Given the description of an element on the screen output the (x, y) to click on. 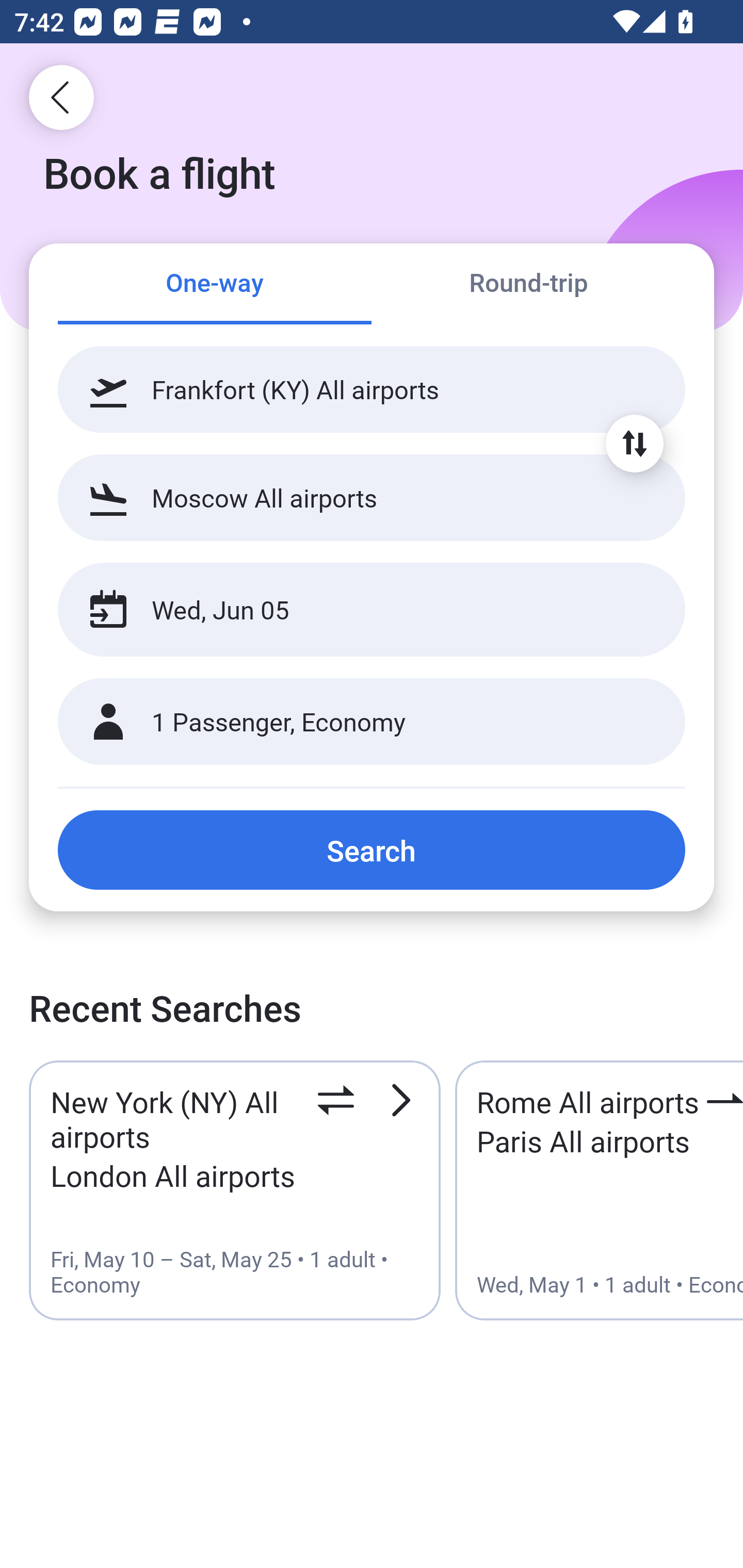
Round-trip (528, 284)
Frankfort (KY) All airports (371, 389)
Moscow All airports (371, 497)
Wed, Jun 05 (349, 609)
1 Passenger, Economy (371, 721)
Search (371, 849)
